Given the description of an element on the screen output the (x, y) to click on. 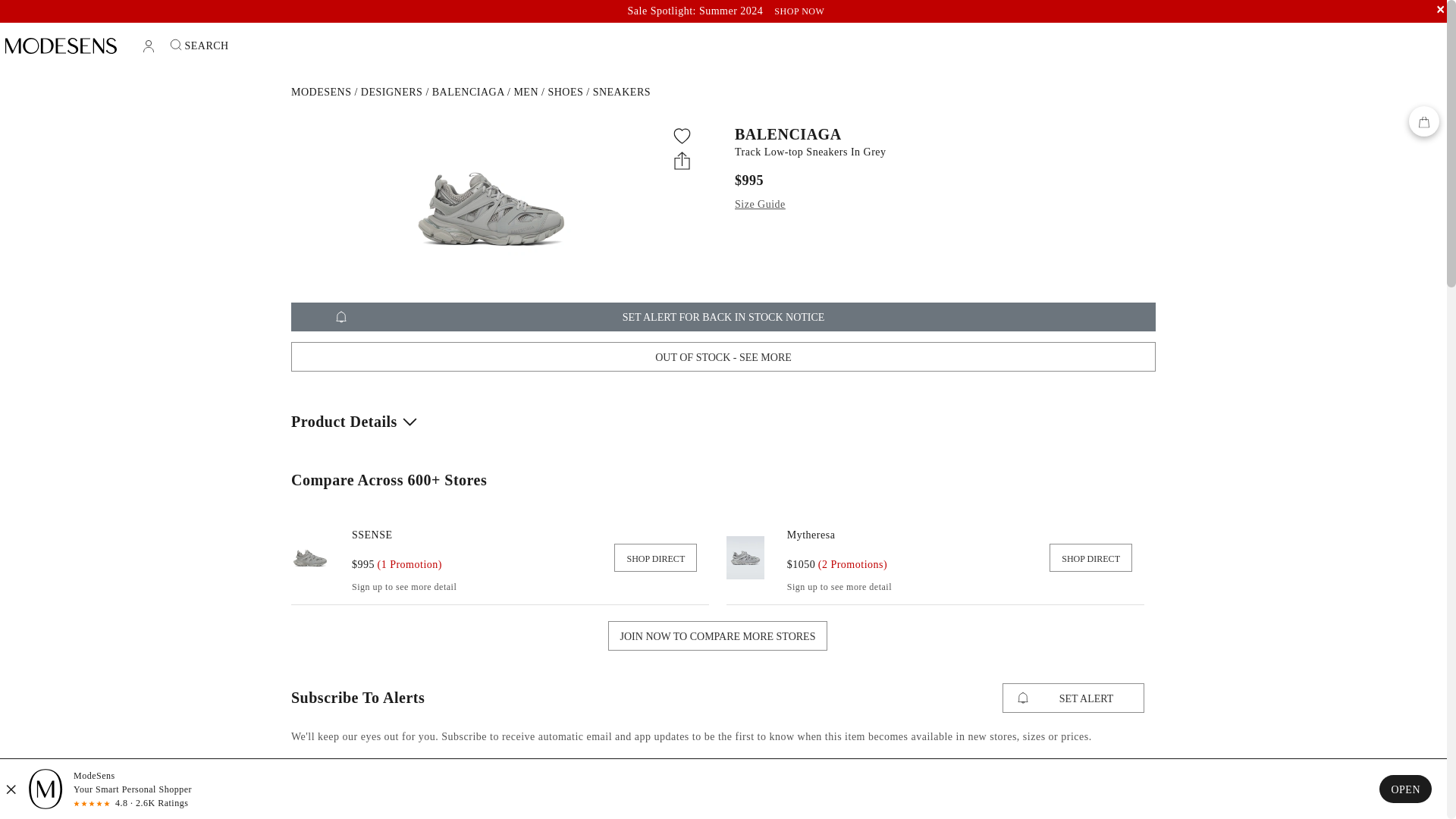
Add to shopping lists (681, 135)
Balenciaga Shoes for Men (565, 91)
Balenciaga Men (525, 91)
Balenciaga (467, 91)
Designers (392, 91)
ModeSens (320, 91)
OPEN (1404, 788)
Balenciaga Sneakers for Men (621, 91)
Share with Friends (681, 159)
BALENCIAGA (939, 133)
Track Low-top Sneakers In  Grey (939, 151)
